Given the description of an element on the screen output the (x, y) to click on. 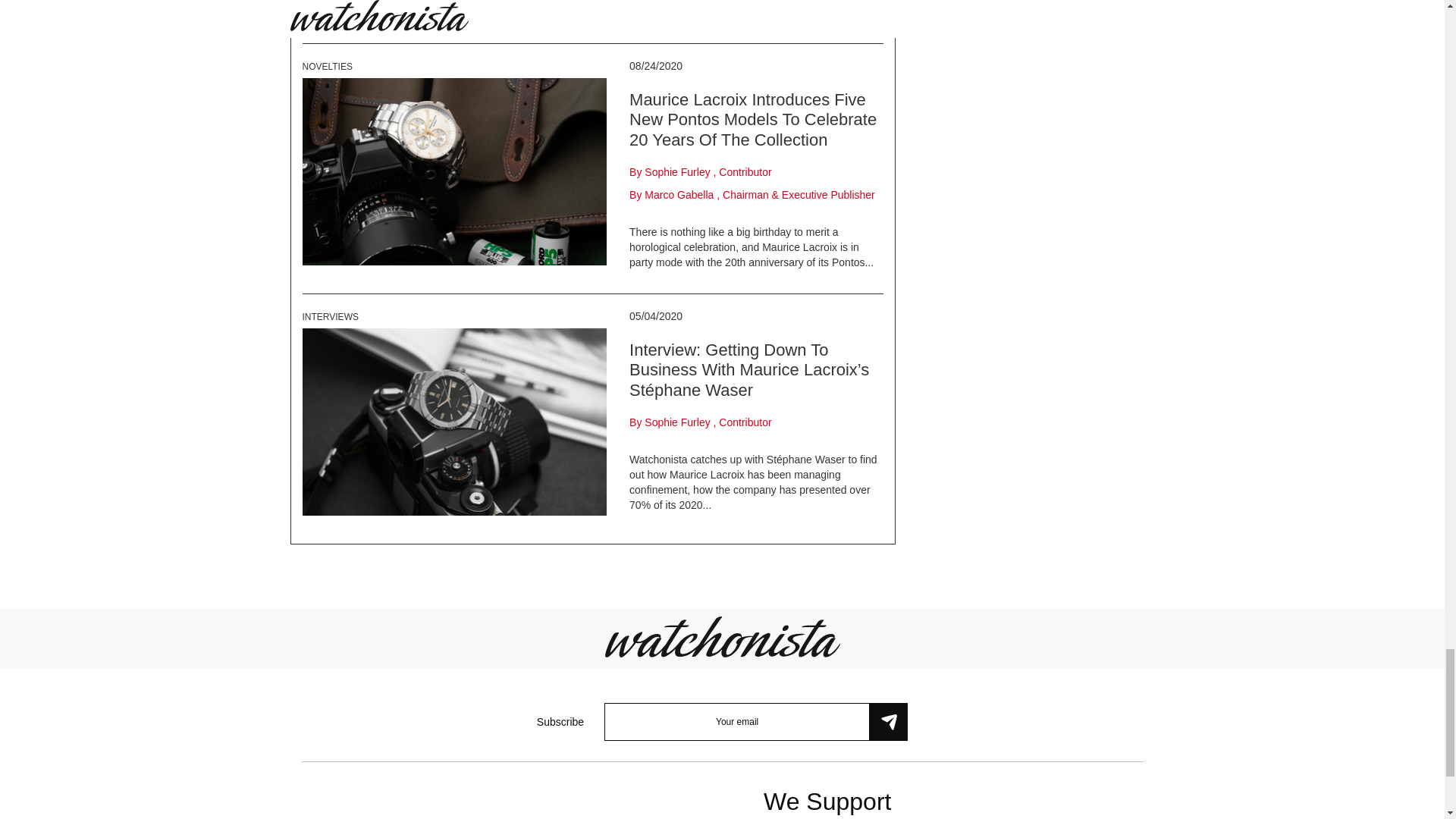
Subscribe (888, 721)
NOVELTIES (326, 66)
INTERVIEWS (329, 317)
